Given the description of an element on the screen output the (x, y) to click on. 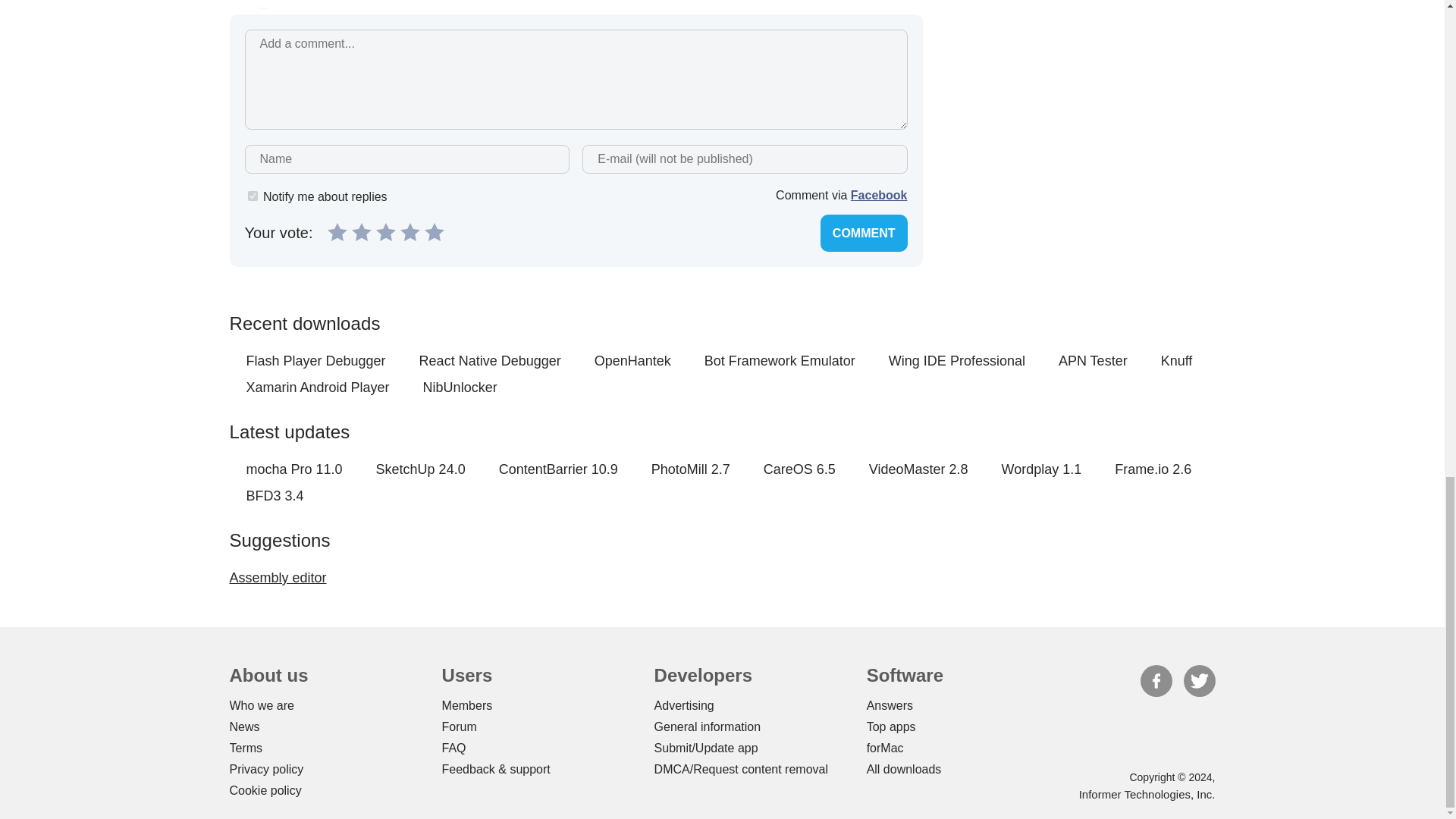
React Native Debugger (489, 360)
Comment (864, 232)
1 (252, 195)
3 (385, 230)
Comment (864, 232)
2 (361, 230)
1 (336, 230)
4 (409, 230)
5 (434, 230)
Flash Player Debugger (315, 360)
